Given the description of an element on the screen output the (x, y) to click on. 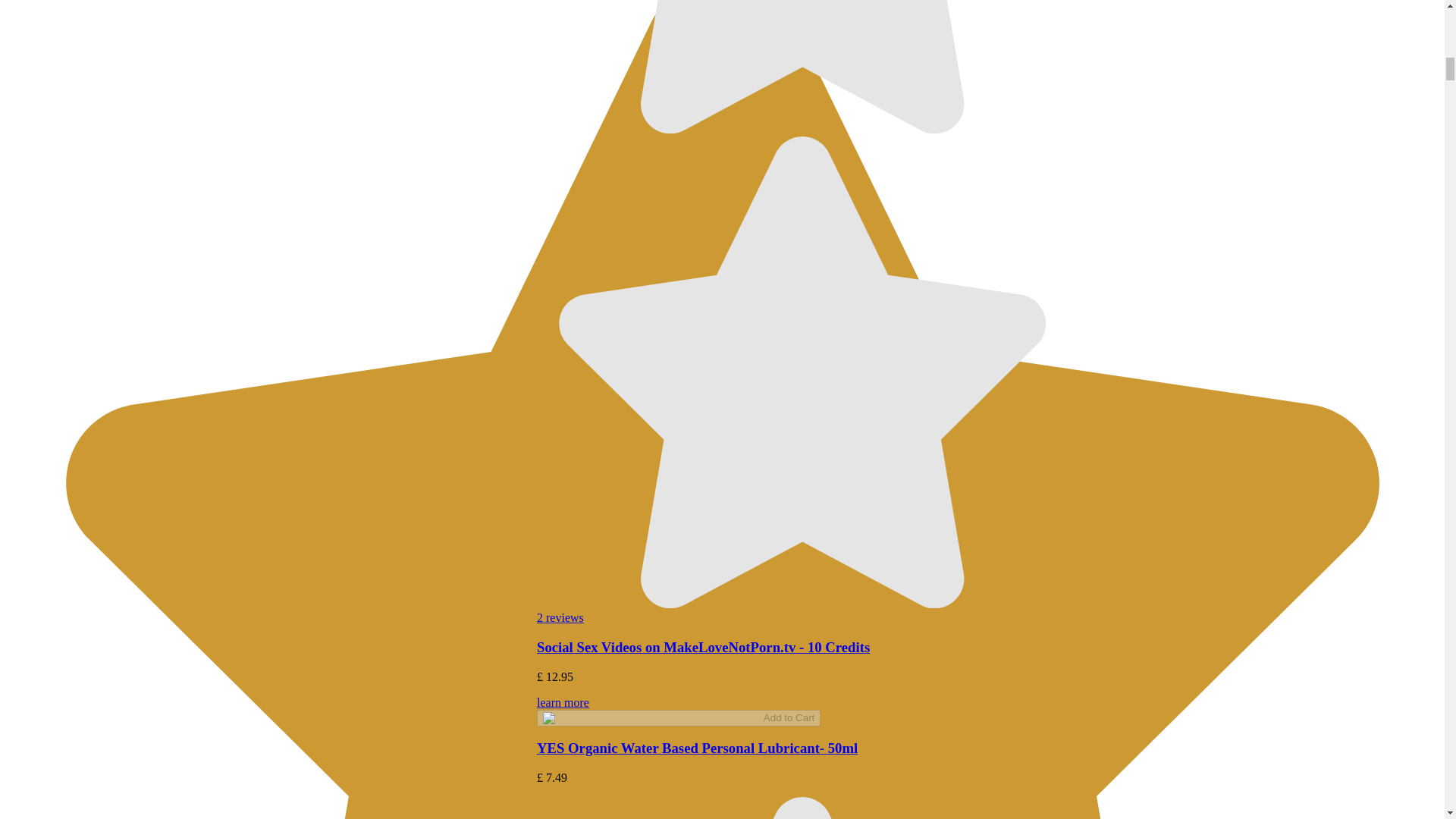
learn more (802, 709)
YES Organic Water Based Personal Lubricant- 50ml (697, 747)
Add to Cart (679, 718)
Social Sex Videos on MakeLoveNotPorn.tv - 10 Credits (703, 647)
2 reviews (560, 617)
